Given the description of an element on the screen output the (x, y) to click on. 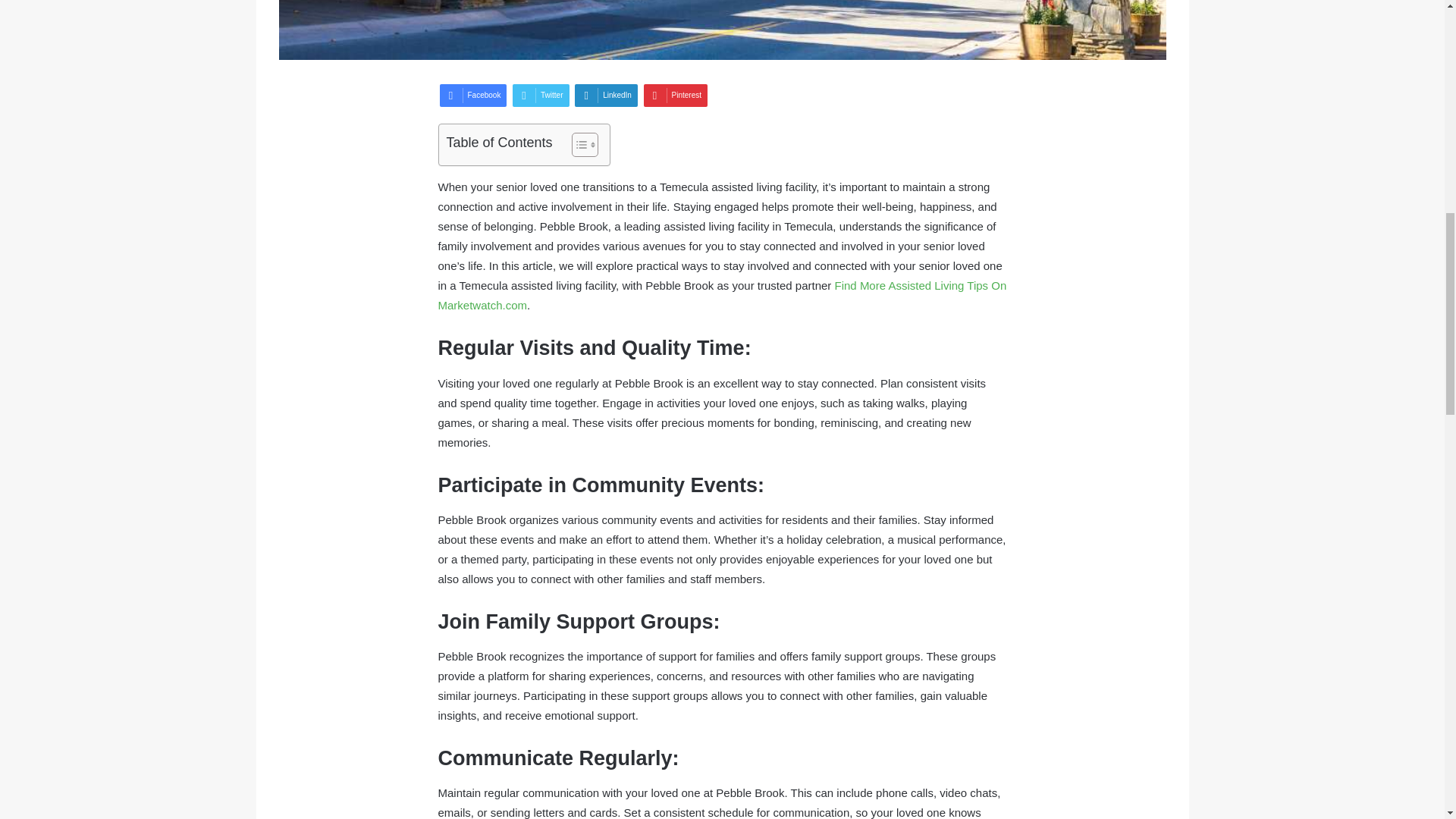
Twitter (540, 95)
Pinterest (675, 95)
LinkedIn (606, 95)
Facebook (472, 95)
Find More Assisted Living Tips On Marketwatch.com (722, 295)
Pinterest (675, 95)
LinkedIn (606, 95)
Twitter (540, 95)
Facebook (472, 95)
